Given the description of an element on the screen output the (x, y) to click on. 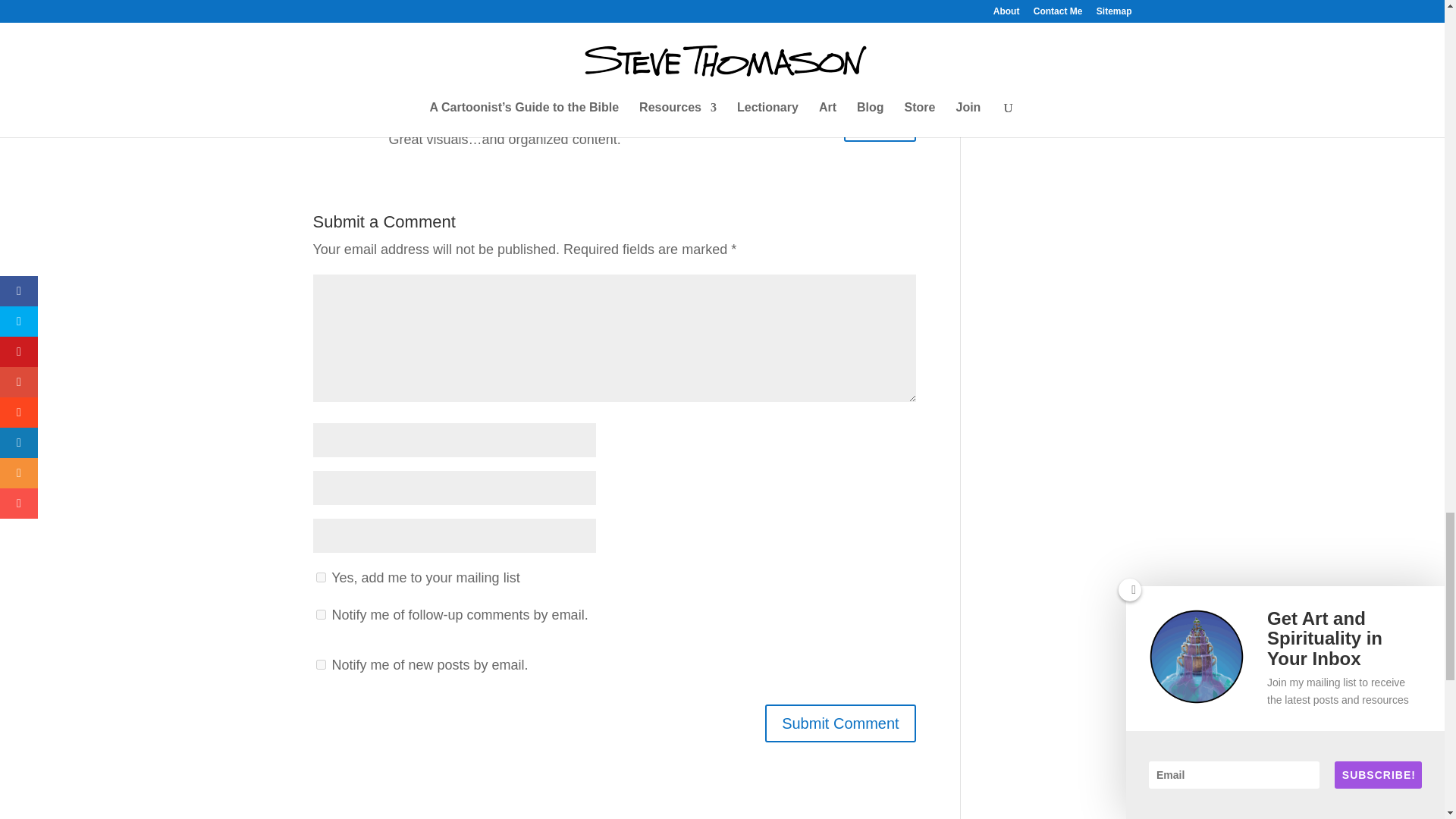
1 (319, 577)
Submit Comment (840, 723)
subscribe (319, 614)
subscribe (319, 664)
